Given the description of an element on the screen output the (x, y) to click on. 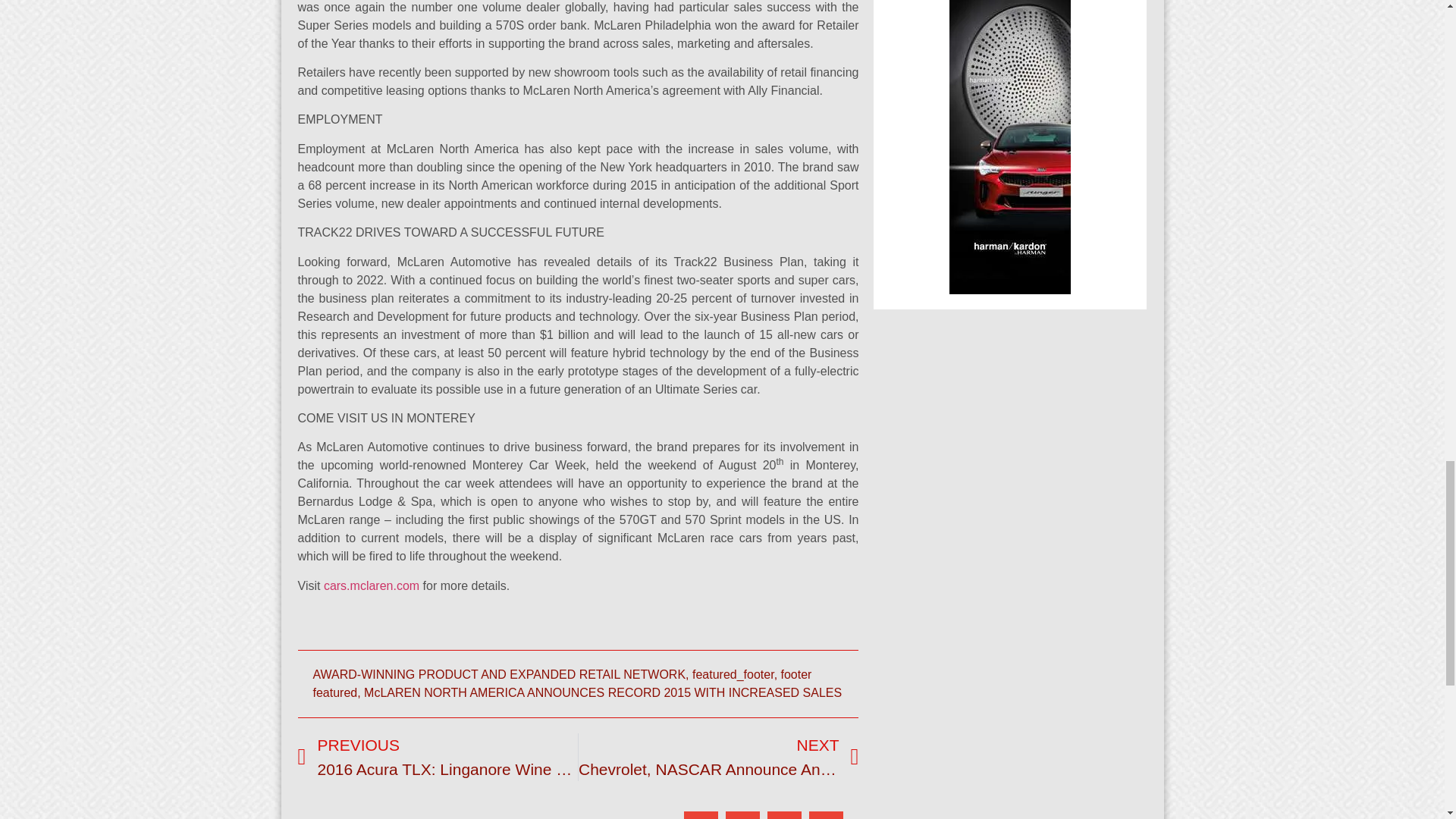
footer featured (561, 683)
AWARD-WINNING PRODUCT AND EXPANDED RETAIL NETWORK (499, 674)
cars.mclaren.com (371, 585)
